Given the description of an element on the screen output the (x, y) to click on. 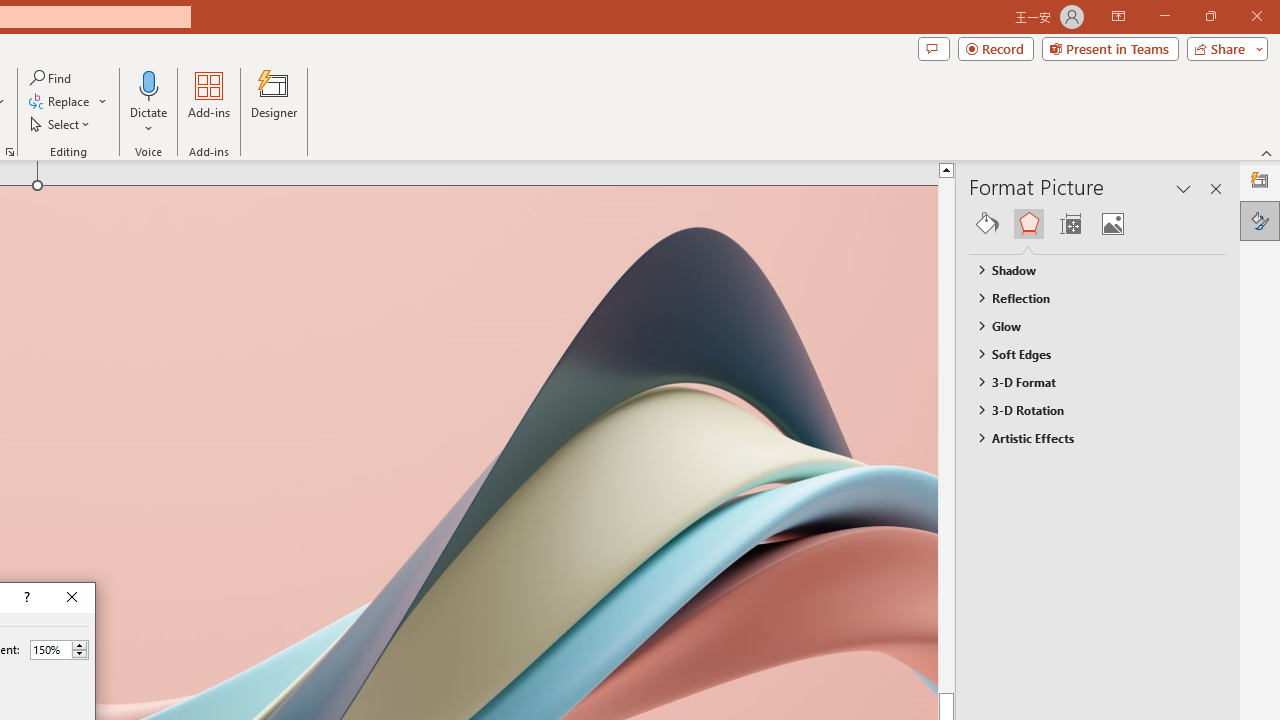
3-D Rotation (1088, 410)
Fill & Line (987, 223)
Artistic Effects (1088, 438)
Picture (1112, 223)
Context help (25, 597)
Reflection (1088, 297)
Glow (1088, 325)
